Given the description of an element on the screen output the (x, y) to click on. 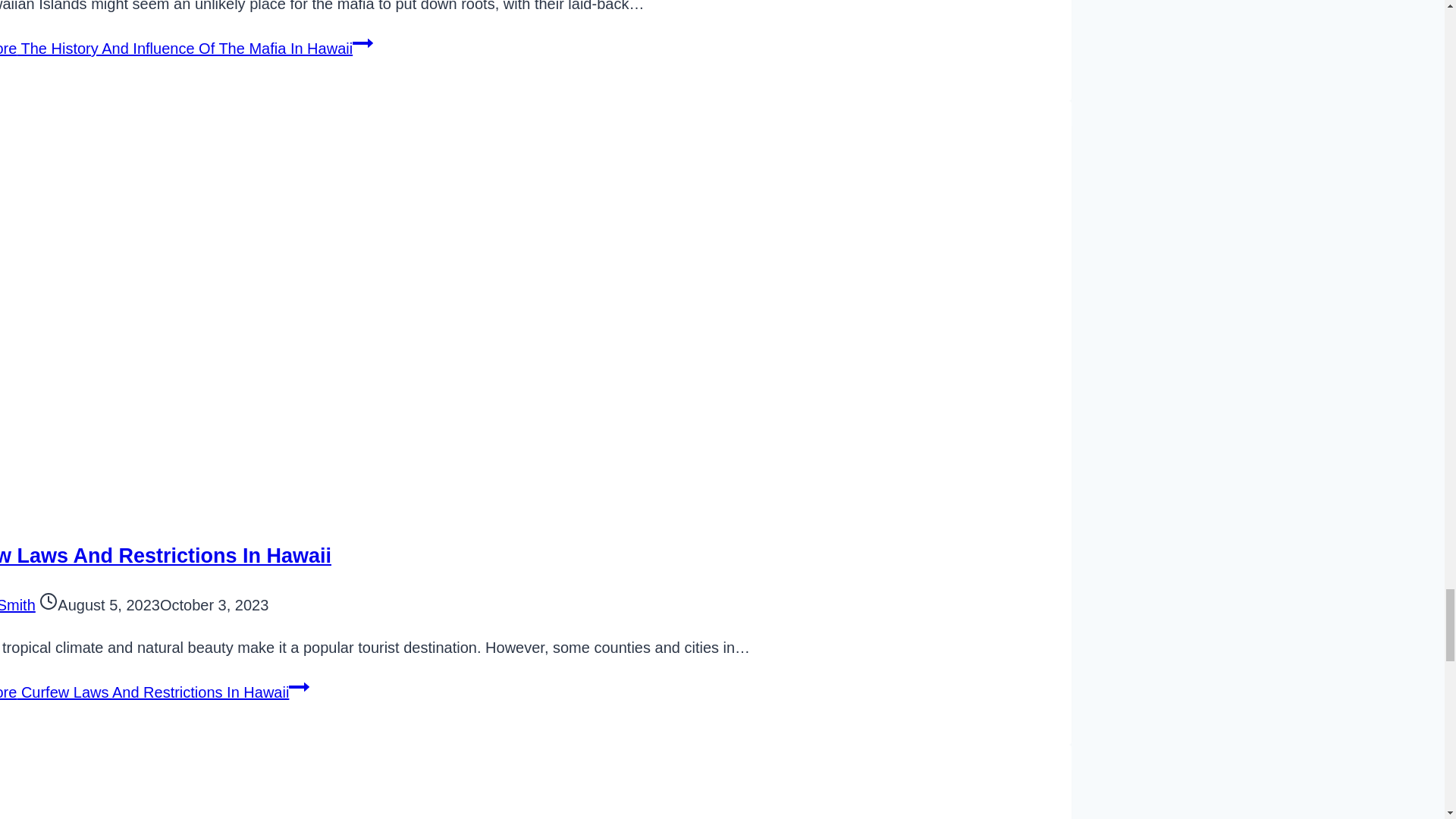
Read More The History And Influence Of The Mafia In Hawaii (186, 48)
Jane Smith (17, 605)
Curfew Laws And Restrictions In Hawaii (165, 555)
